Given the description of an element on the screen output the (x, y) to click on. 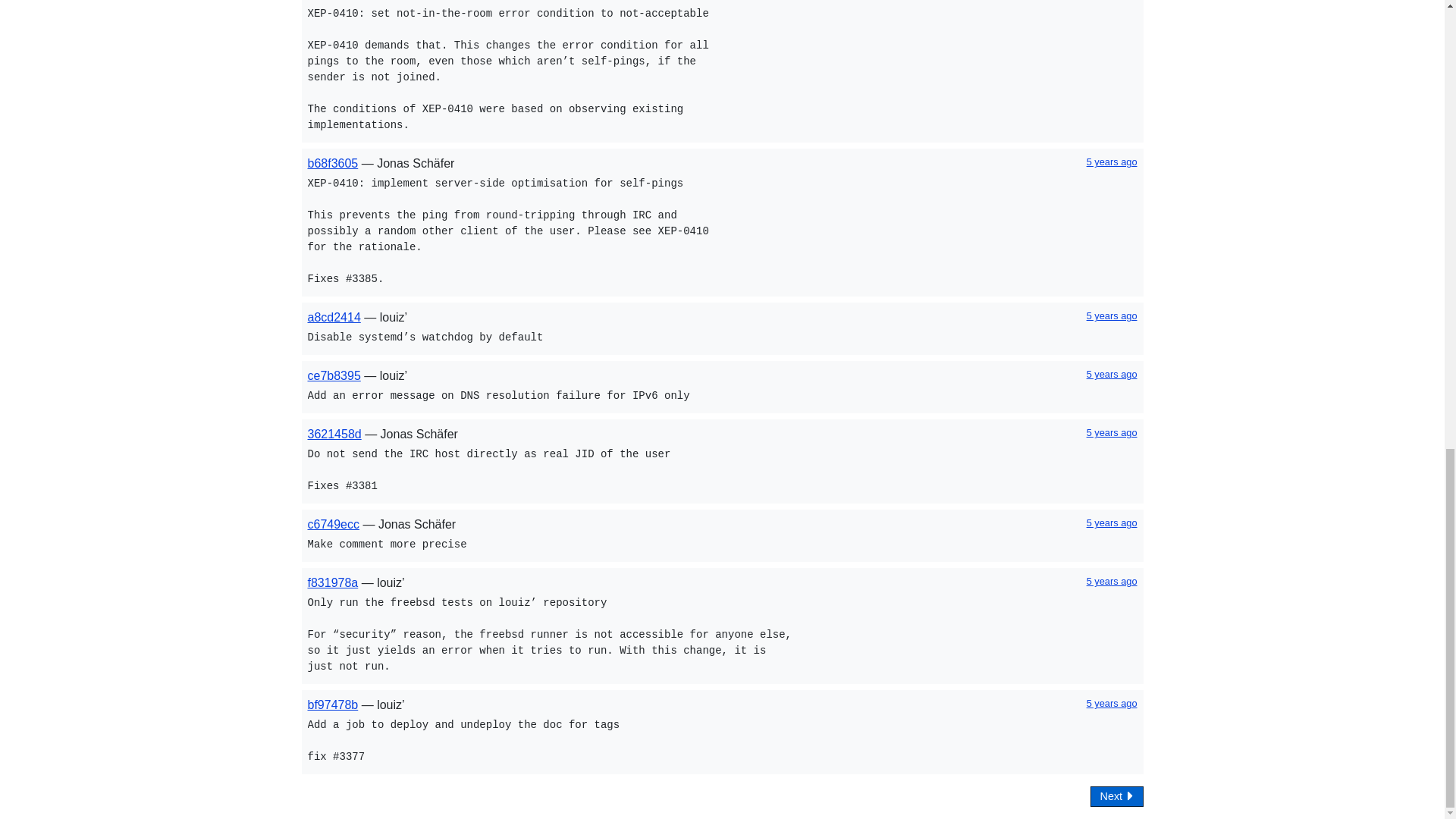
5 years ago (1111, 161)
ce7b8395 (334, 375)
a8cd2414 (334, 317)
5 years ago (1111, 315)
b68f3605 (332, 163)
